Given the description of an element on the screen output the (x, y) to click on. 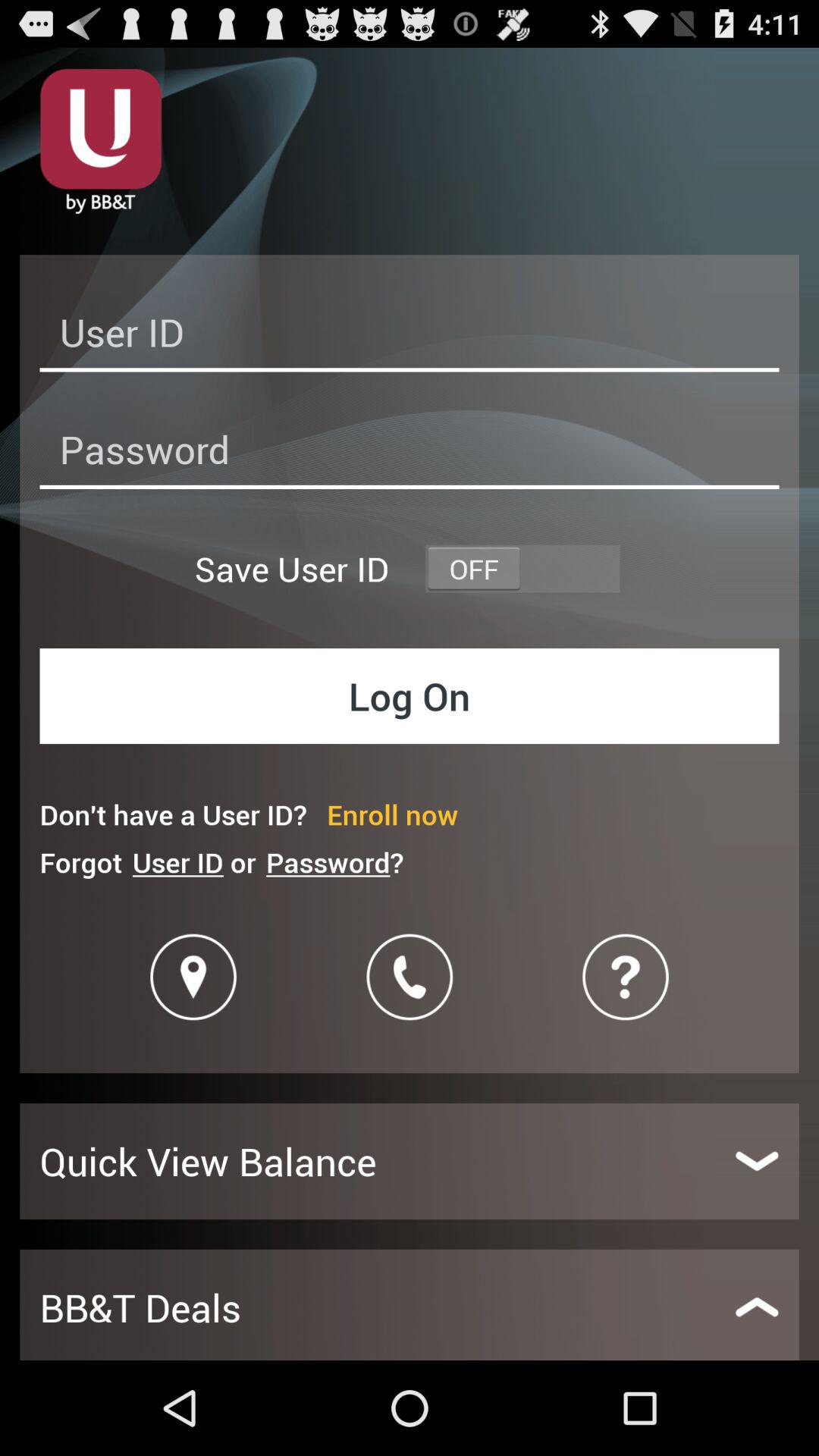
password field (409, 454)
